Given the description of an element on the screen output the (x, y) to click on. 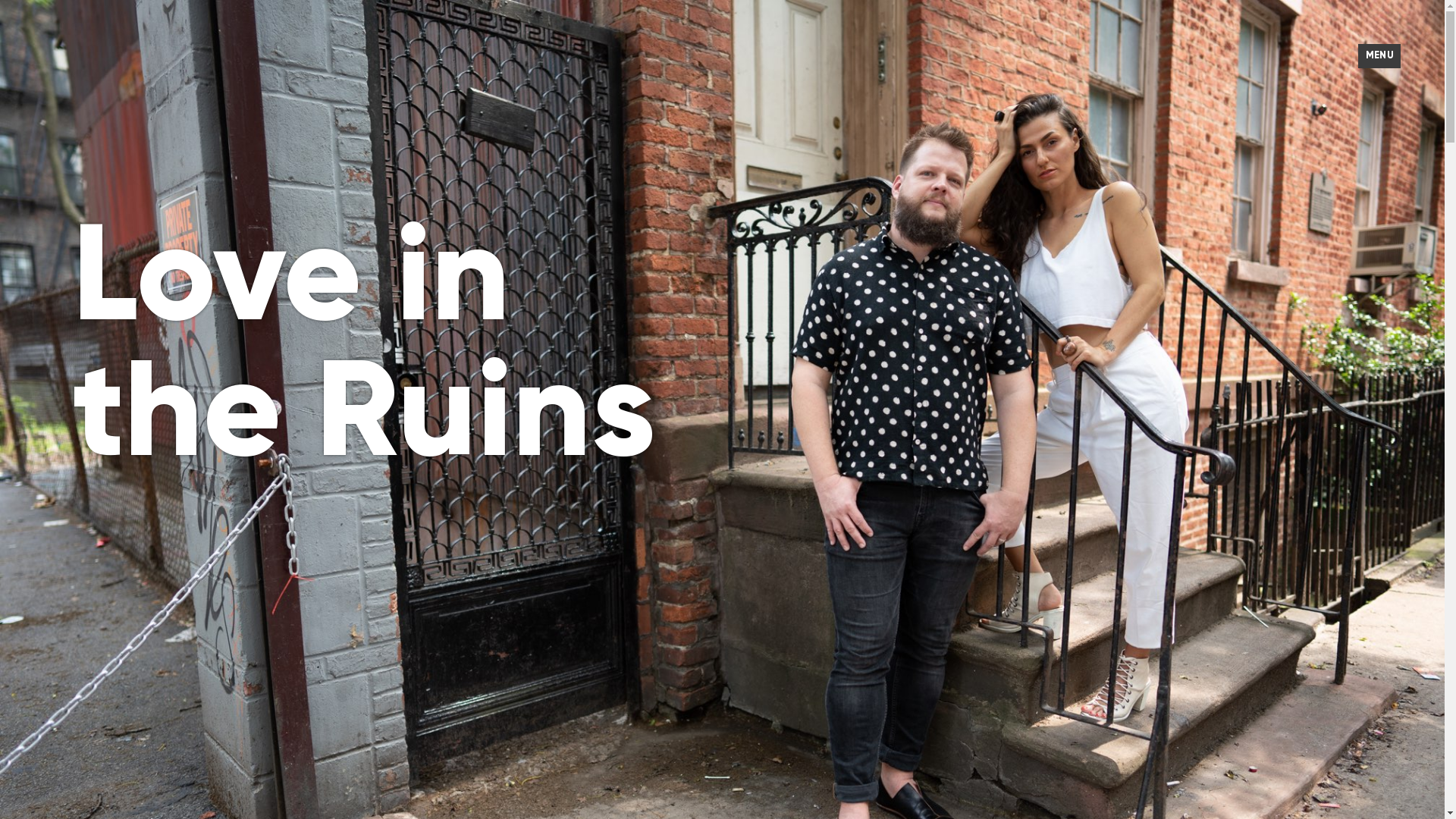
VIEW
MENU Element type: text (1379, 55)
